Given the description of an element on the screen output the (x, y) to click on. 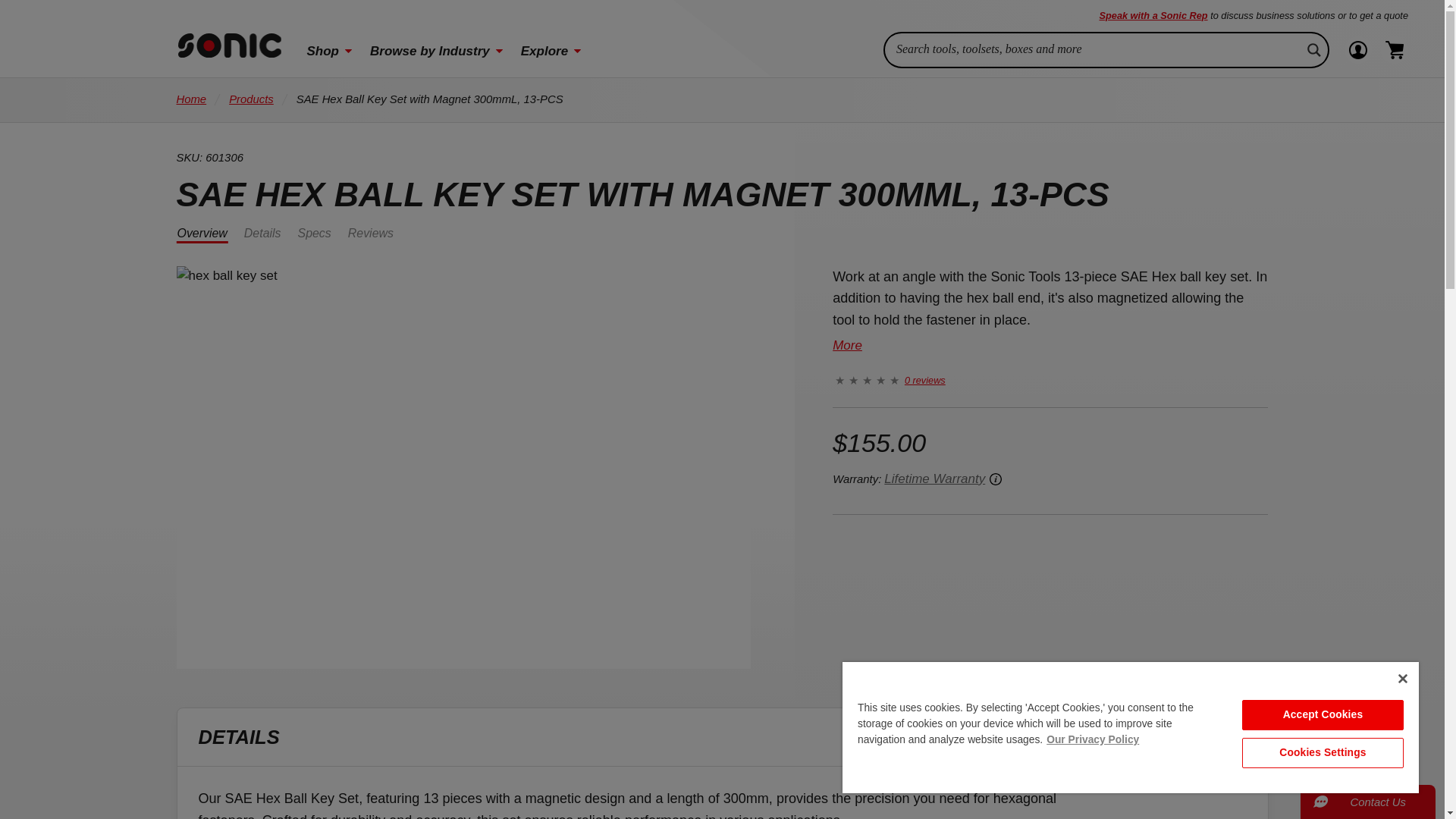
Sonic Tools homepage (229, 45)
